Given the description of an element on the screen output the (x, y) to click on. 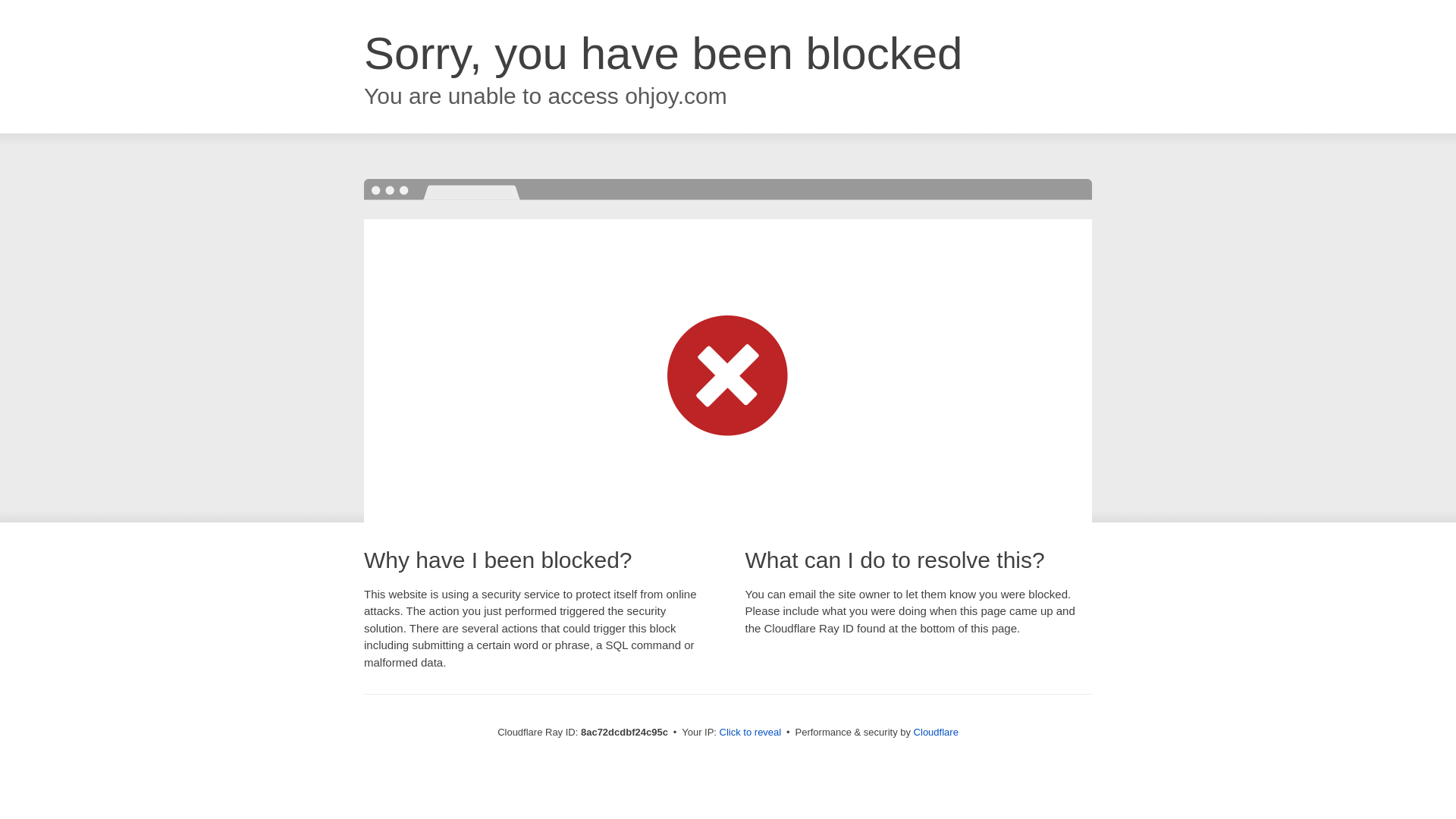
Cloudflare (936, 731)
Click to reveal (750, 732)
